Given the description of an element on the screen output the (x, y) to click on. 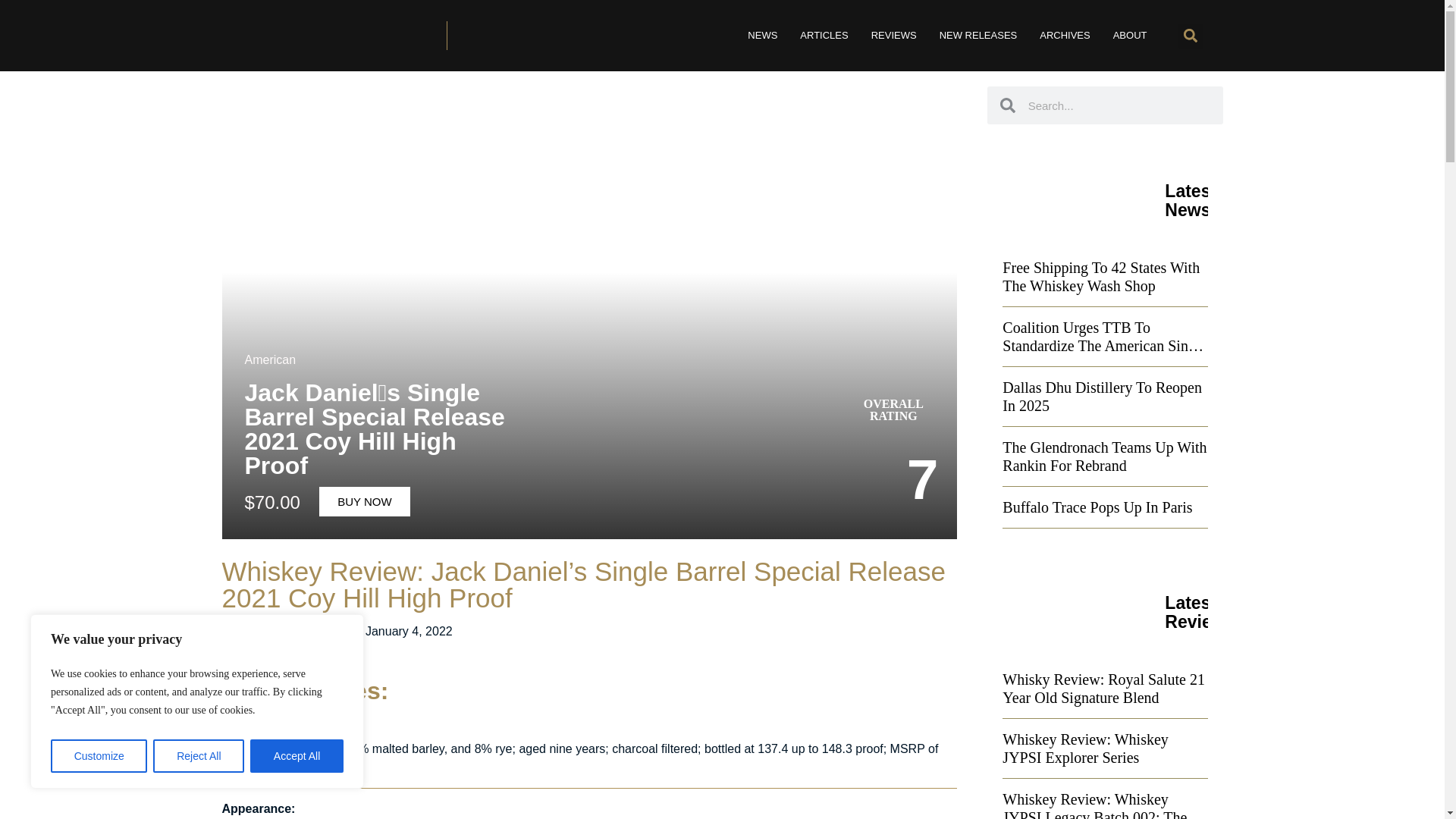
NEW RELEASES (978, 35)
REVIEWS (894, 35)
Reject All (198, 756)
ARCHIVES (1063, 35)
Customize (98, 756)
Accept All (296, 756)
NEWS (762, 35)
ABOUT (1130, 35)
ARTICLES (824, 35)
